Given the description of an element on the screen output the (x, y) to click on. 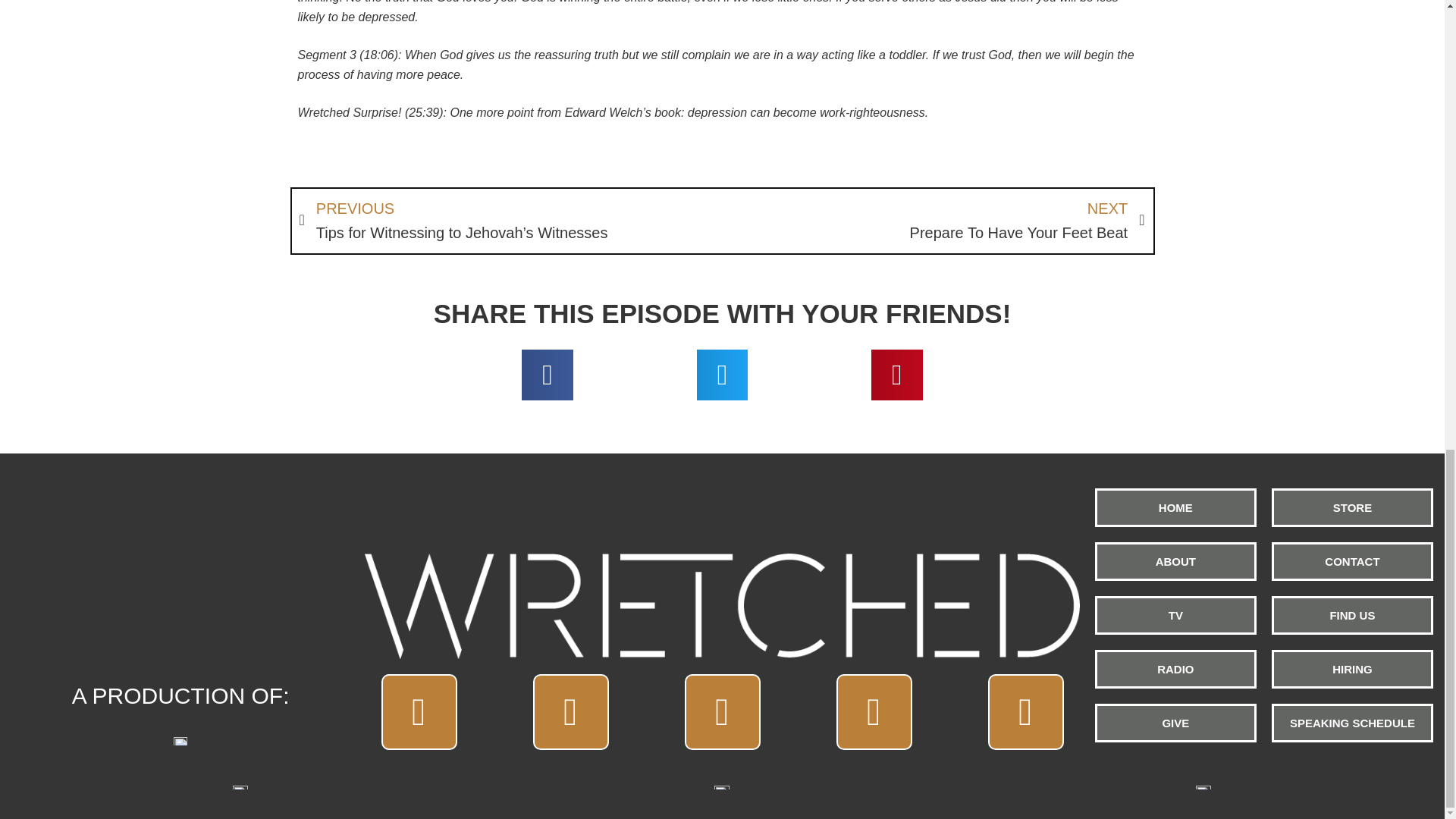
HOME (1175, 507)
ABOUT (1175, 561)
TV (933, 220)
